Given the description of an element on the screen output the (x, y) to click on. 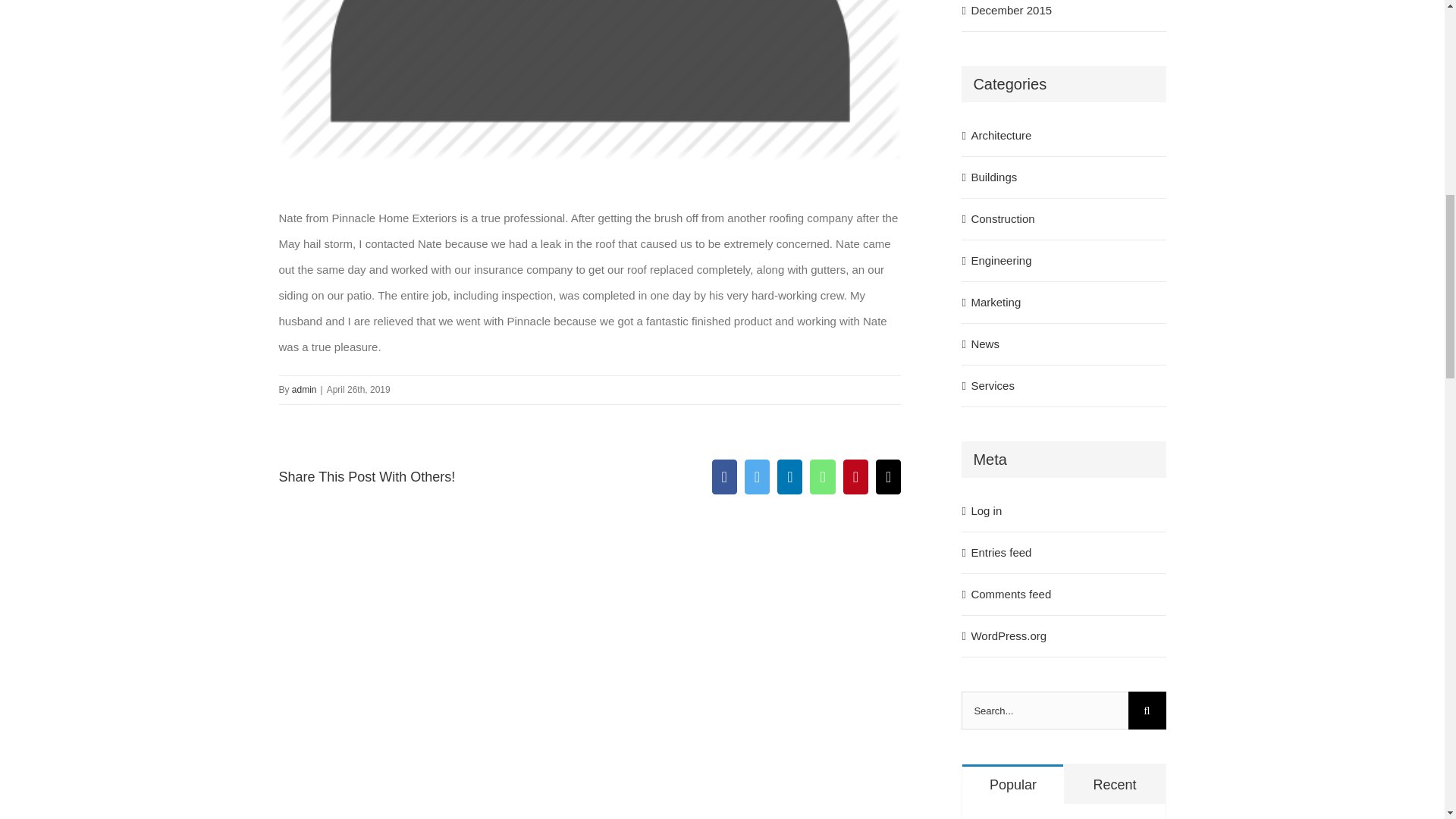
admin (304, 389)
View Larger Image (590, 79)
Posts by admin (304, 389)
